Given the description of an element on the screen output the (x, y) to click on. 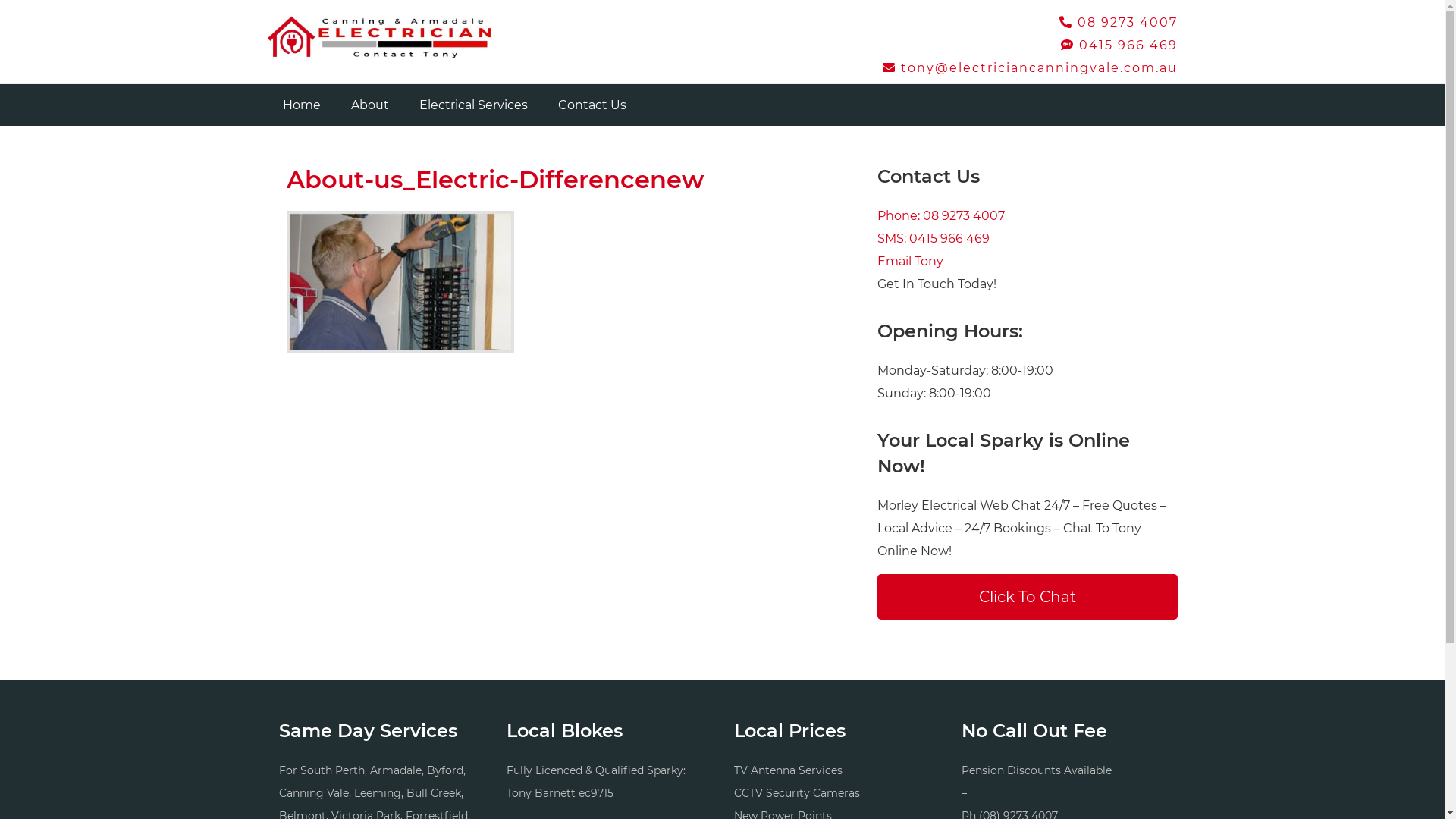
Click To Chat Element type: text (1026, 596)
0415 966 469 Element type: text (1118, 44)
Electrical Services Element type: text (472, 104)
Home Element type: text (300, 104)
Email Tony Element type: text (909, 261)
tony@electriciancanningvale.com.au Element type: text (1029, 67)
08 9273 4007 Element type: text (1117, 22)
Contact Us Element type: text (591, 104)
SMS: 0415 966 469 Element type: text (932, 238)
Phone: 08 9273 4007 Element type: text (940, 215)
TV Antenna Services Element type: text (788, 770)
CCTV Security Cameras Element type: text (796, 793)
About Element type: text (369, 104)
About-us_Electric-Differencenew Element type: text (494, 179)
